Given the description of an element on the screen output the (x, y) to click on. 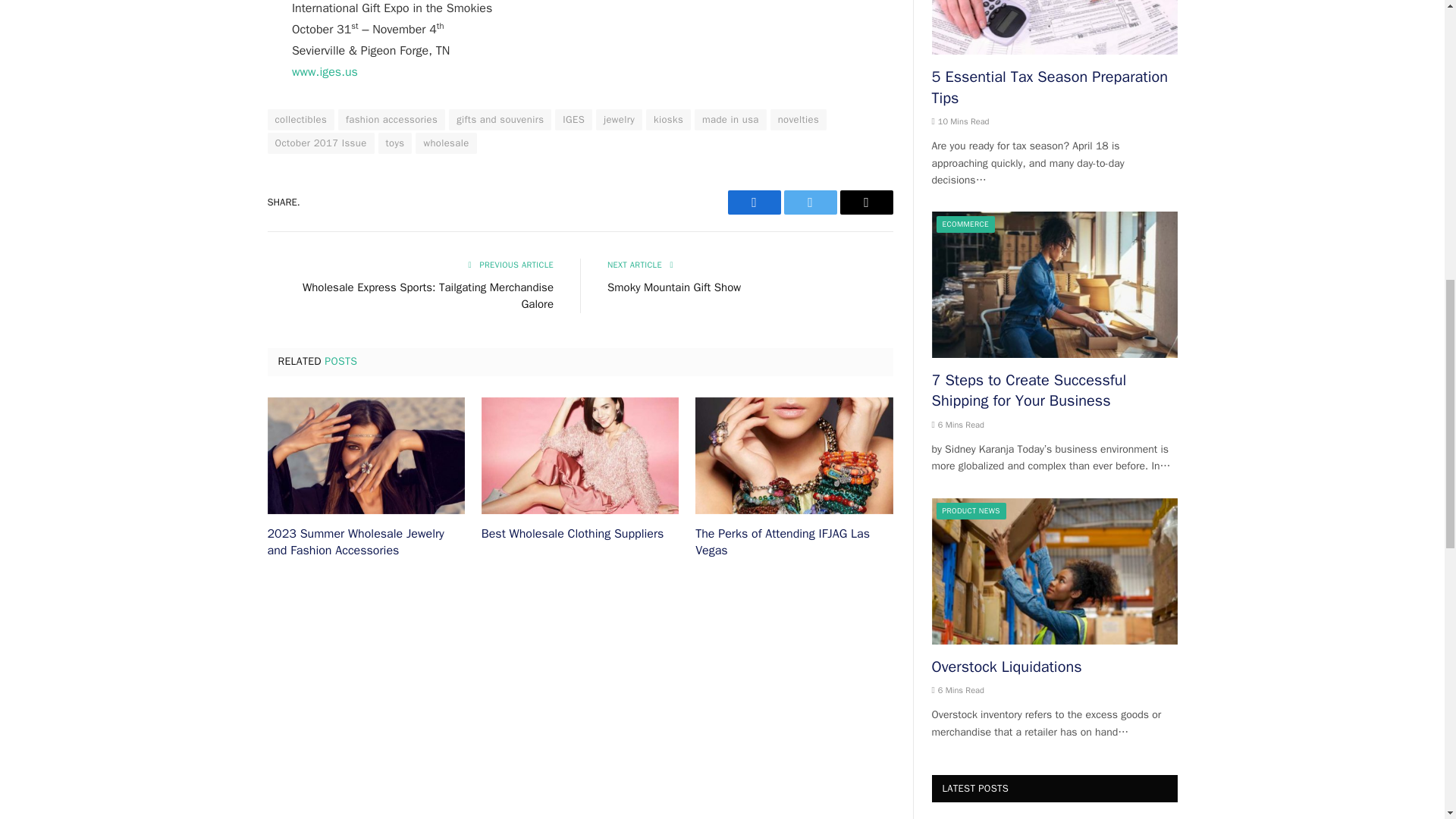
Share via Email (866, 202)
Best Wholesale Clothing Suppliers (579, 456)
The Perks of Attending IFJAG Las Vegas (793, 456)
Share on Facebook (754, 202)
2023 Summer Wholesale Jewelry and Fashion Accessories (365, 456)
